Given the description of an element on the screen output the (x, y) to click on. 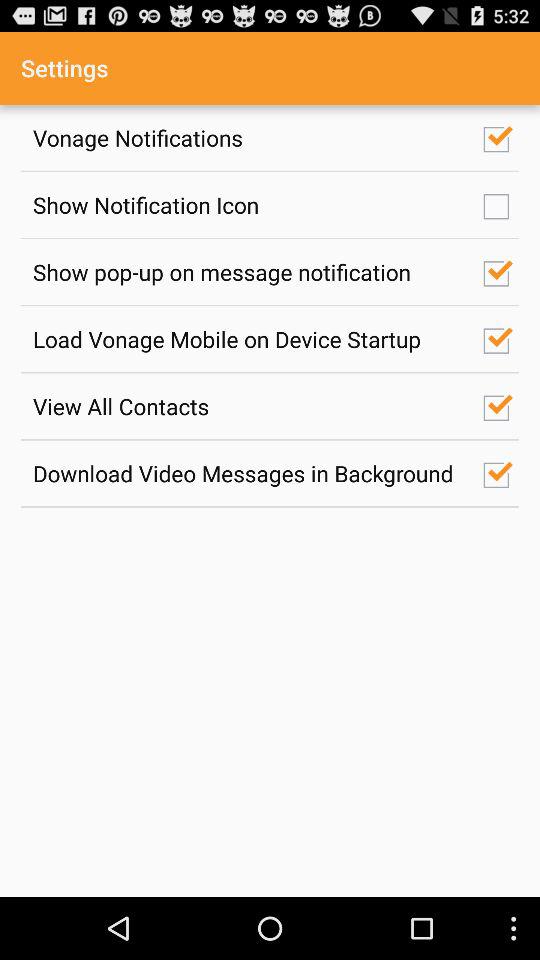
click view all contacts (247, 406)
